Given the description of an element on the screen output the (x, y) to click on. 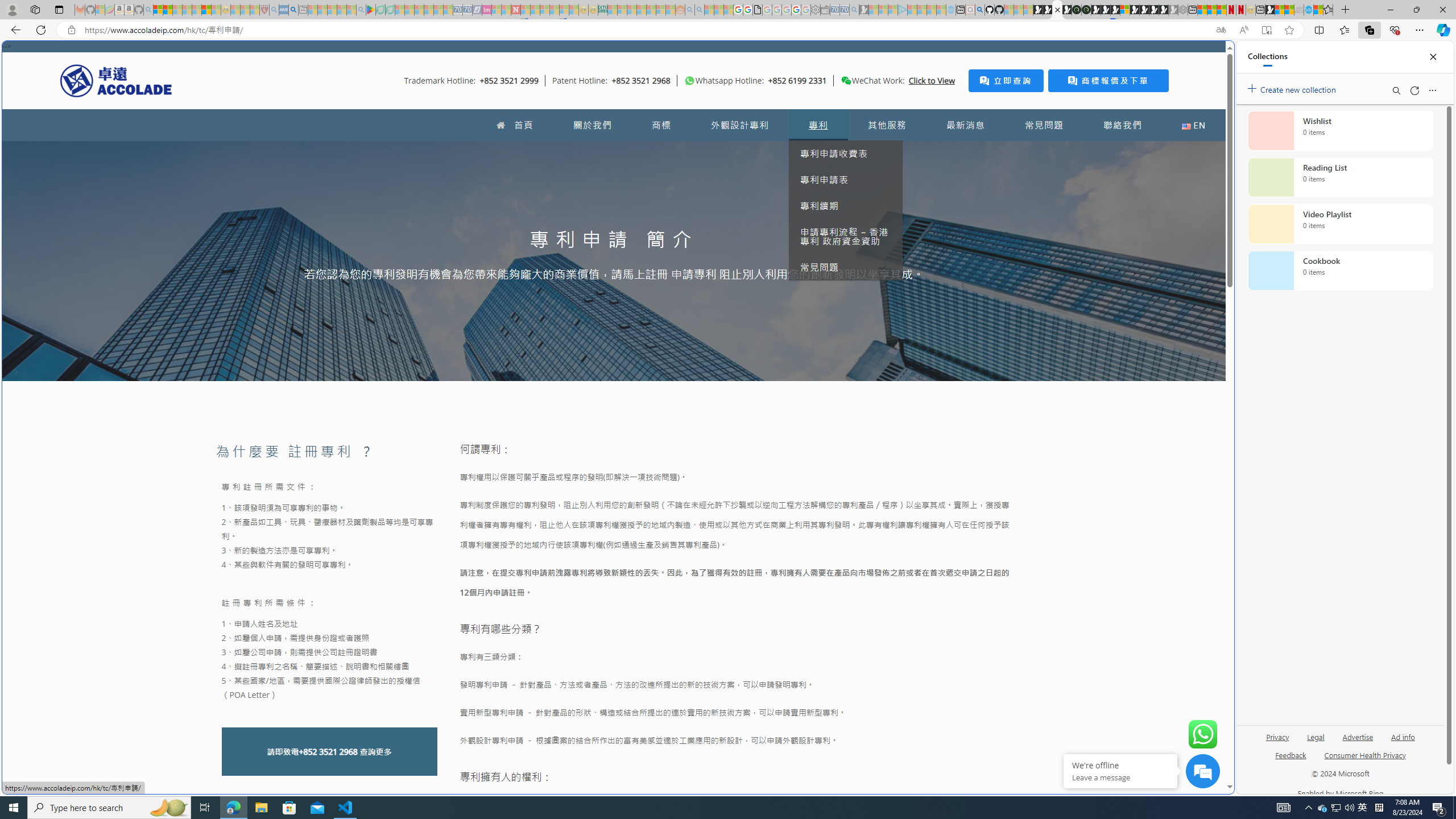
Accolade IP HK Logo (116, 80)
